Given the description of an element on the screen output the (x, y) to click on. 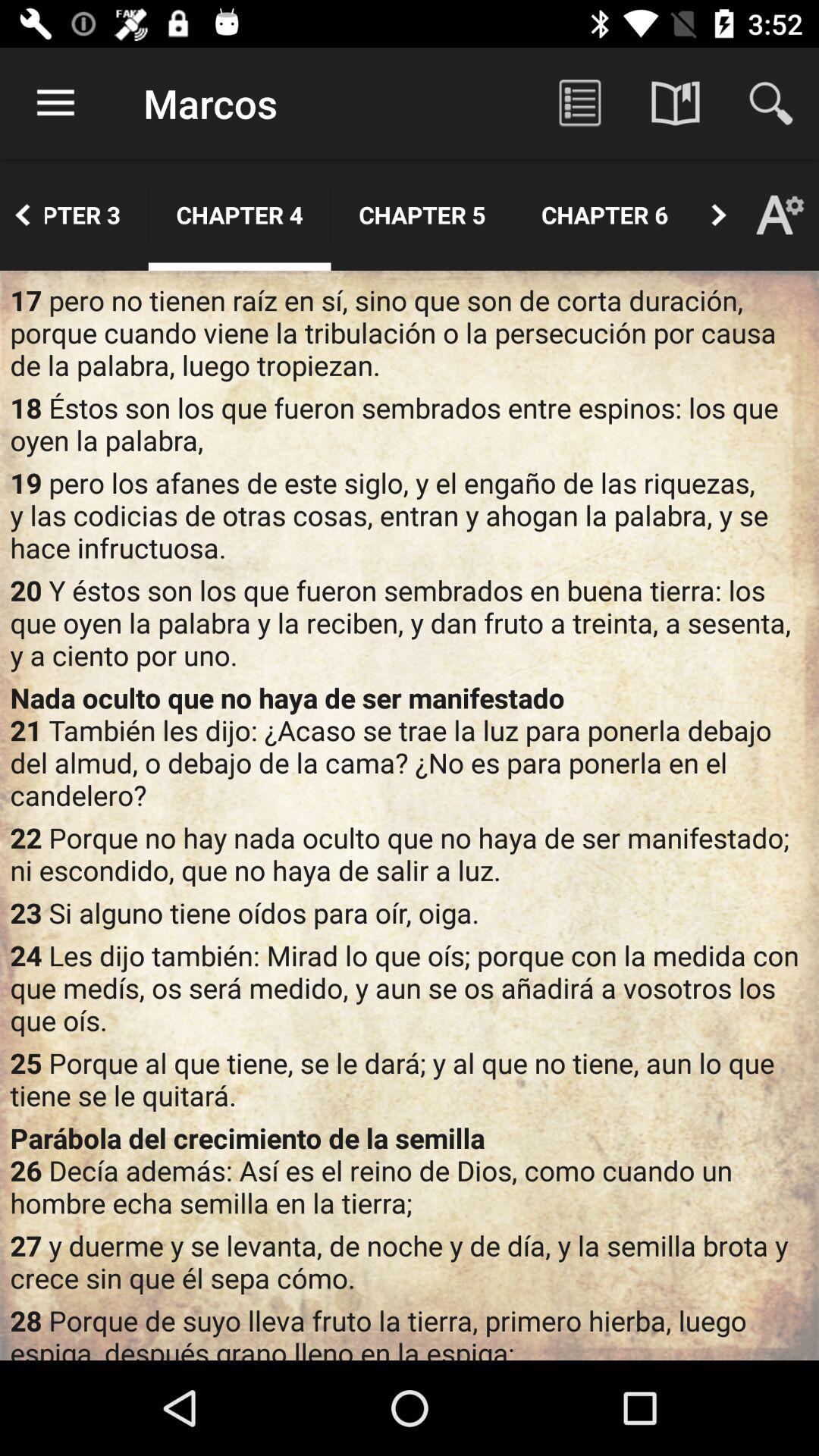
click chapter 4 app (239, 214)
